Given the description of an element on the screen output the (x, y) to click on. 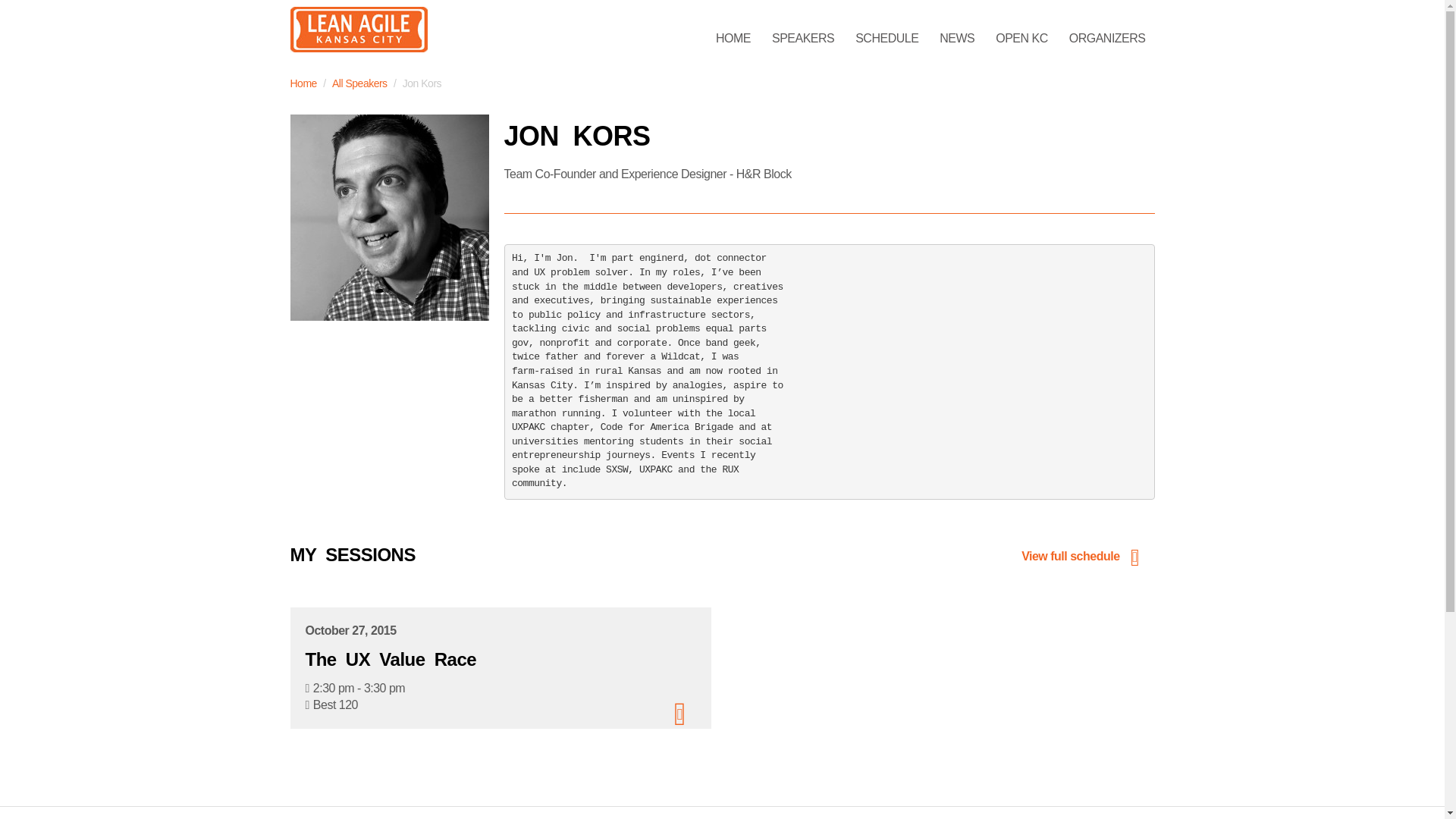
Jon Kors (388, 217)
Home (302, 82)
OPEN KC (1022, 39)
NEWS (957, 39)
All Speakers (359, 82)
SPEAKERS (802, 39)
The UX Value Race (390, 659)
SCHEDULE (886, 39)
HOME (733, 39)
